Given the description of an element on the screen output the (x, y) to click on. 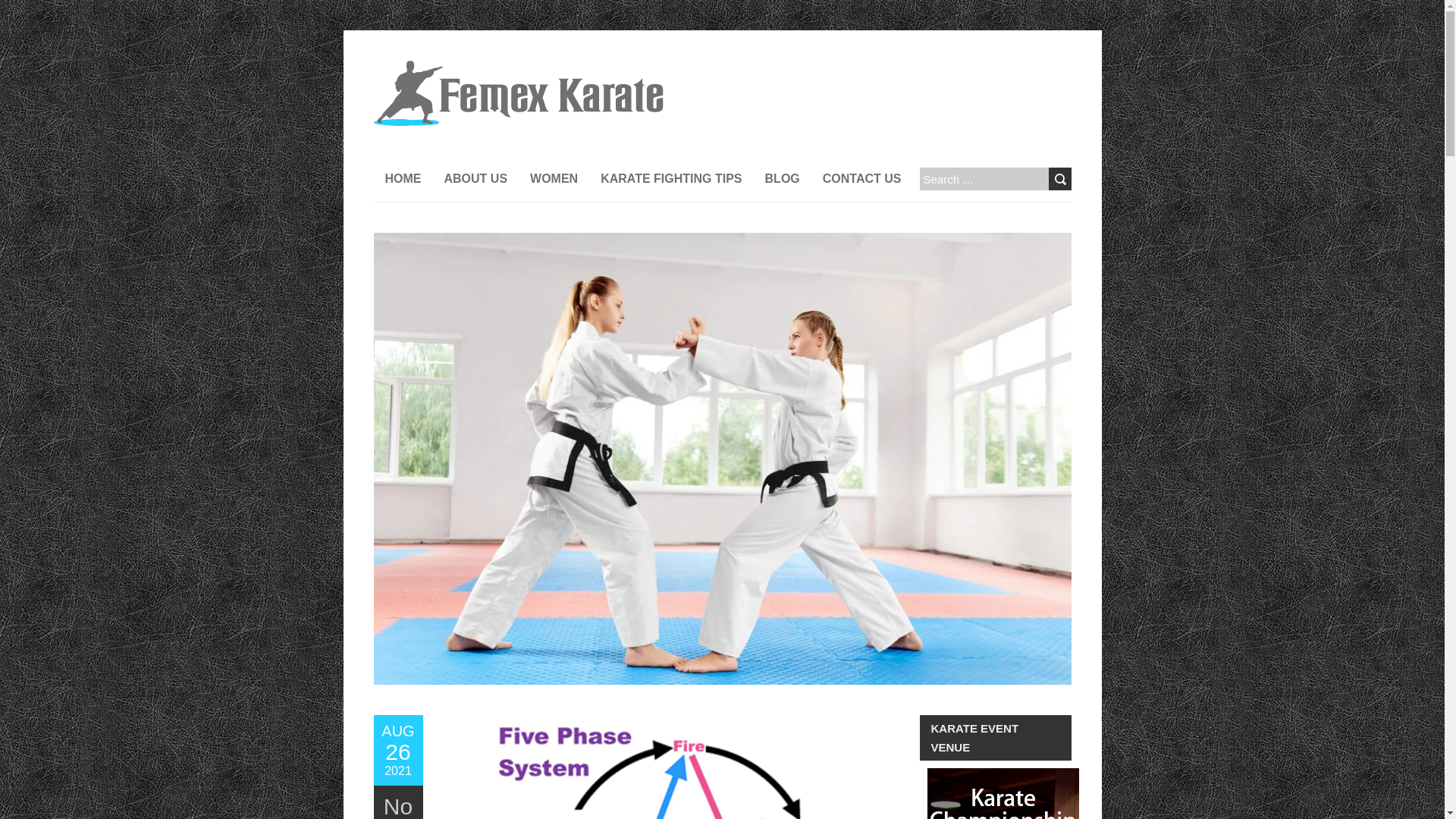
No (397, 806)
Search (1059, 178)
Karate Event Venue (1002, 793)
Search (1059, 178)
BLOG (782, 178)
WOMEN (553, 178)
Search (1059, 178)
ABOUT US (475, 178)
The Karate Five Elements (397, 750)
KARATE FIGHTING TIPS (397, 750)
CONTACT US (670, 178)
Femex Karate: Martial Arts Training Center (861, 178)
HOME (517, 68)
